Given the description of an element on the screen output the (x, y) to click on. 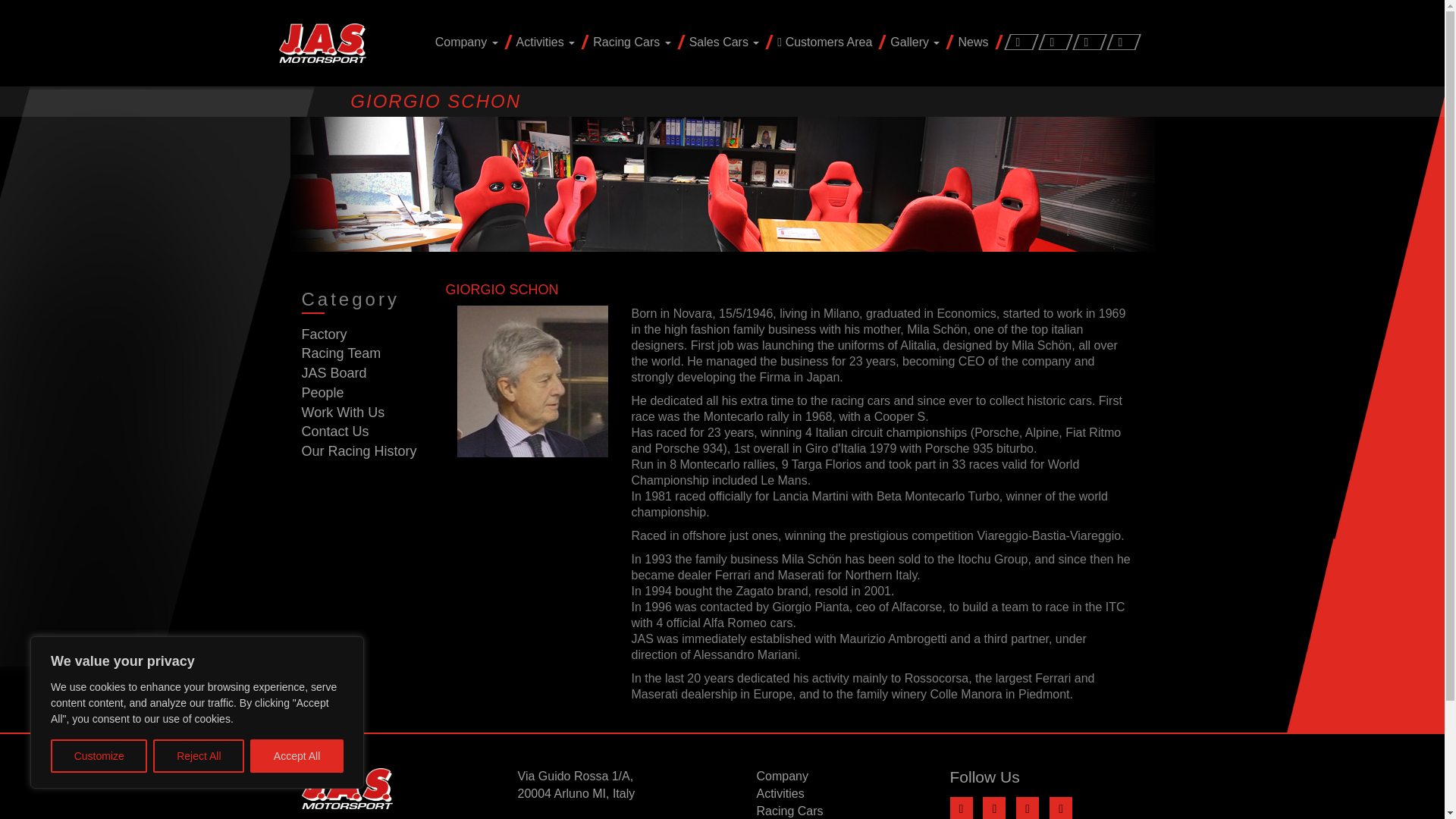
Activities (547, 42)
Accept All (296, 756)
Reject All (198, 756)
Company (468, 42)
Customize (98, 756)
